Given the description of an element on the screen output the (x, y) to click on. 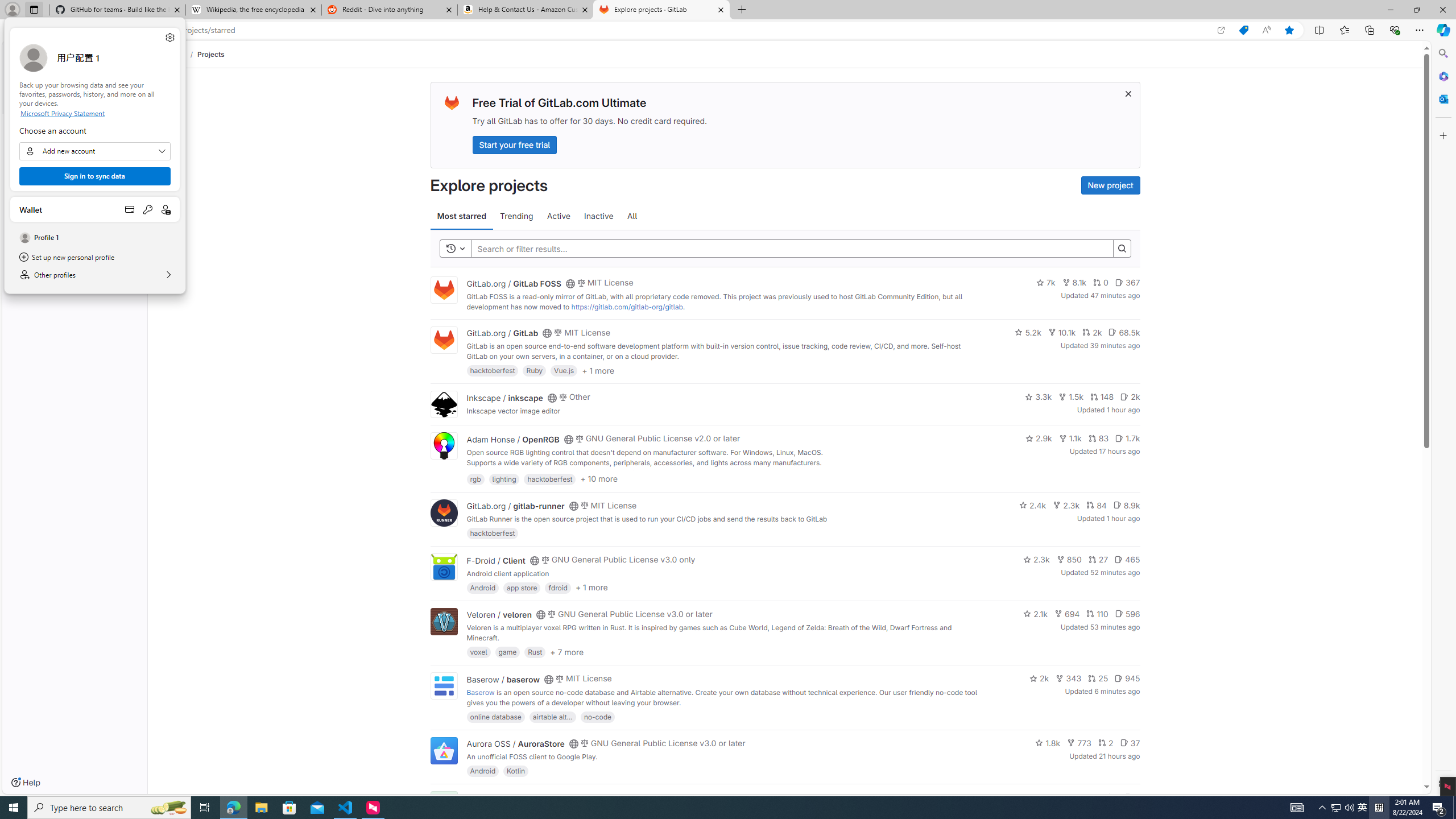
Ruby (533, 370)
143 (1085, 797)
User Promoted Notification Area (1362, 807)
110 (1342, 807)
File Explorer (1097, 613)
Open personal info (261, 807)
343 (165, 208)
Action Center, 2 new notifications (1068, 678)
Notification Chevron (1439, 807)
